Given the description of an element on the screen output the (x, y) to click on. 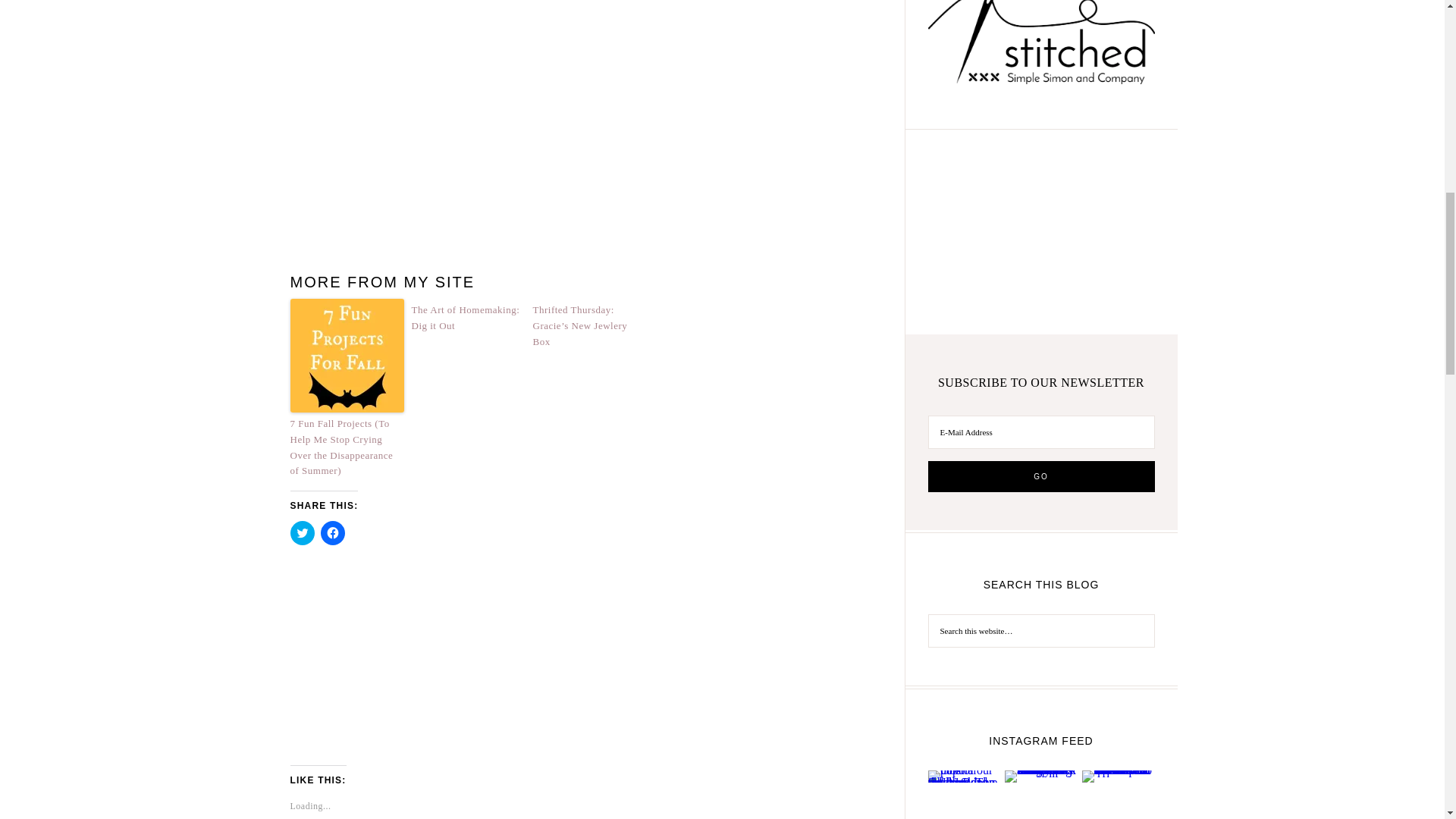
Click to share on Facebook (331, 532)
Go (1041, 476)
The Art of Homemaking: Dig it Out (467, 318)
Click to share on Twitter (301, 532)
